Given the description of an element on the screen output the (x, y) to click on. 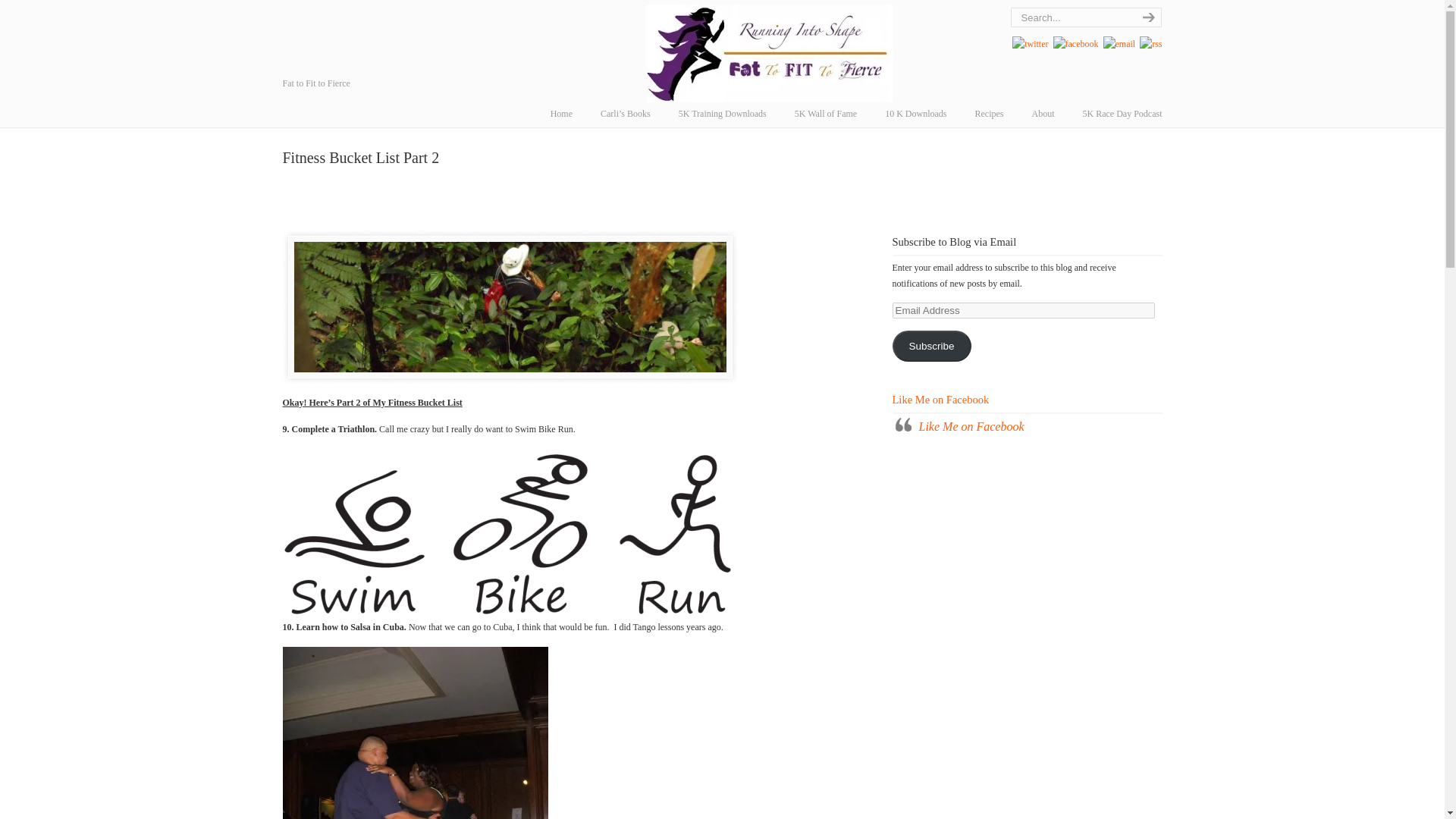
10 K Downloads (914, 113)
About (1043, 113)
E-mail (1118, 43)
RSS (1150, 43)
5K Race Day Podcast (1122, 113)
search (1146, 17)
search (1146, 17)
5K Training Downloads (722, 113)
Recipes (989, 113)
Home (561, 113)
Twitter (1029, 43)
Search... (1070, 17)
5K Wall of Fame (825, 113)
search (1146, 17)
Facebook (1075, 43)
